Given the description of an element on the screen output the (x, y) to click on. 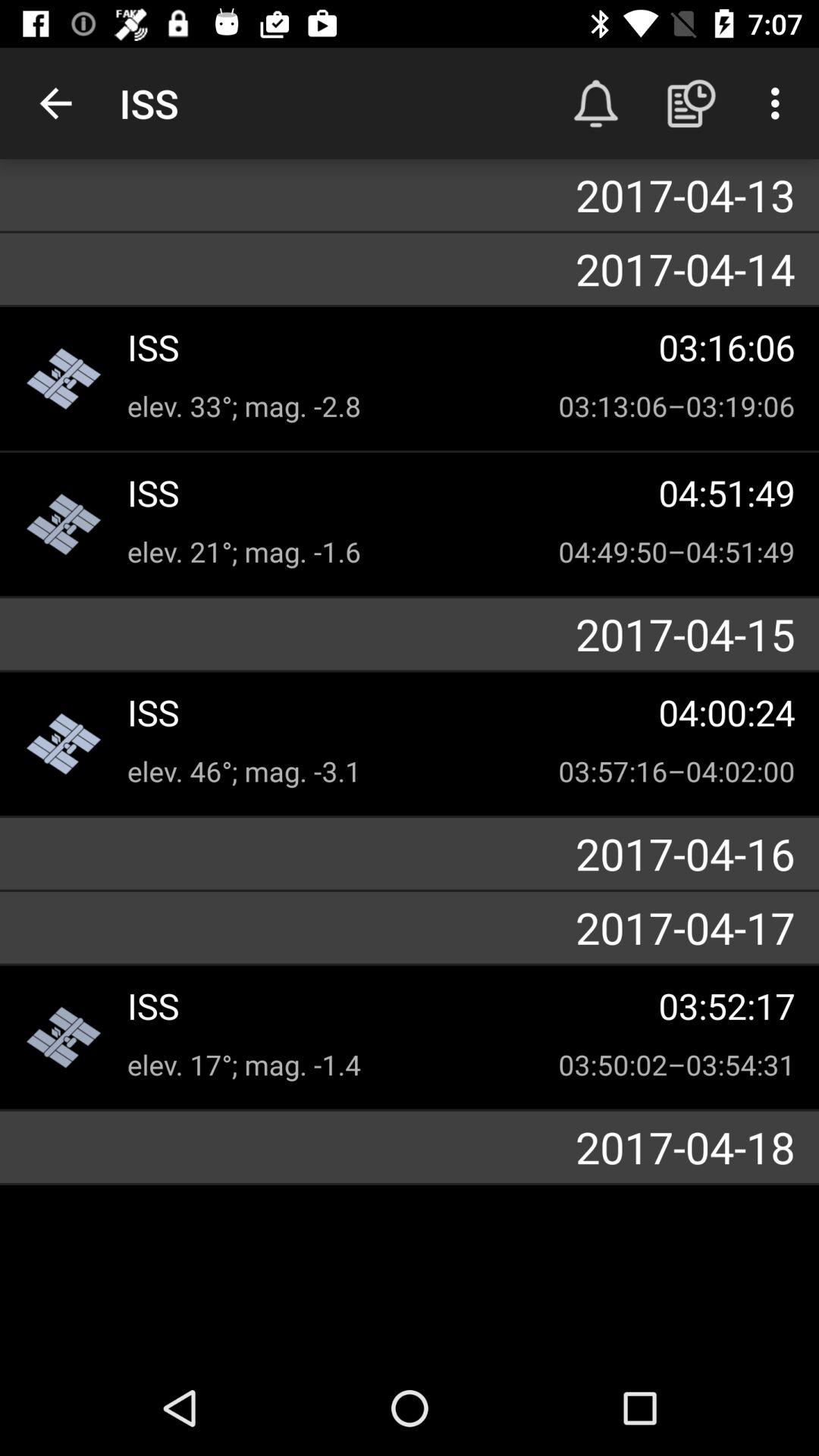
open the icon above 2017-04-13 (691, 103)
